Given the description of an element on the screen output the (x, y) to click on. 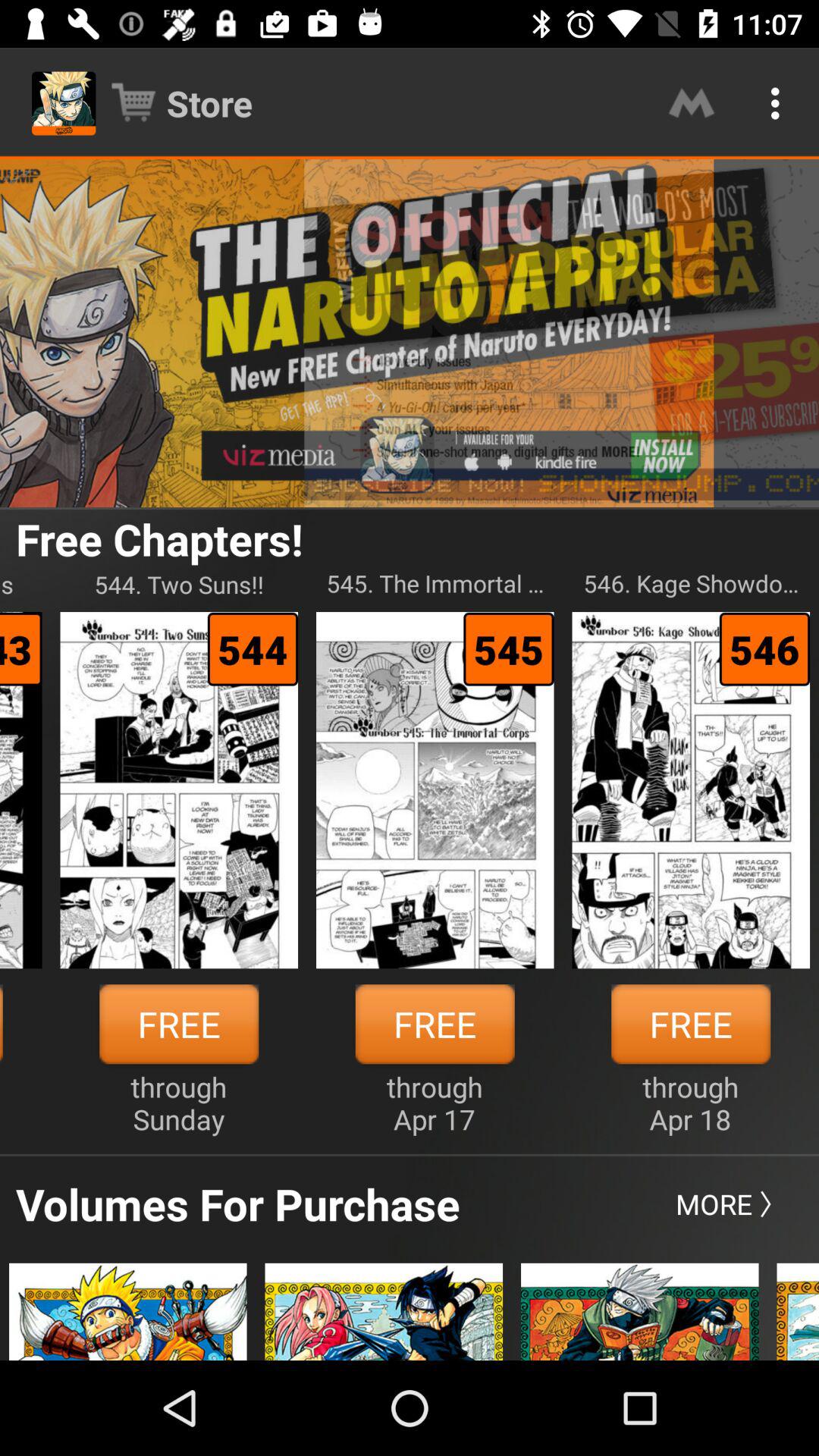
tap item next to the free item (178, 1103)
